Given the description of an element on the screen output the (x, y) to click on. 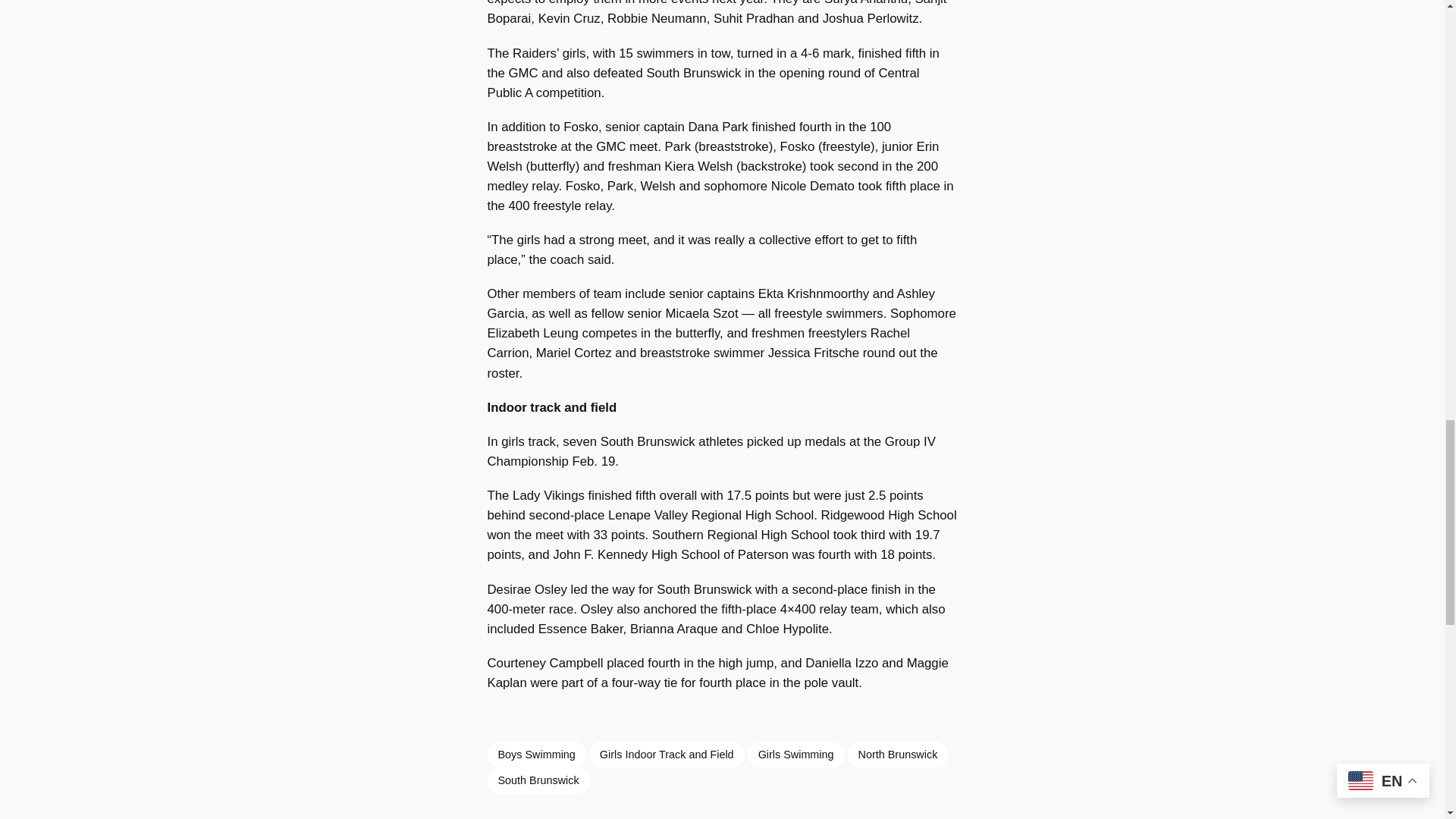
Girls Swimming (796, 754)
Girls Indoor Track and Field (666, 754)
Boys Swimming (535, 754)
North Brunswick (898, 754)
South Brunswick (537, 780)
